Given the description of an element on the screen output the (x, y) to click on. 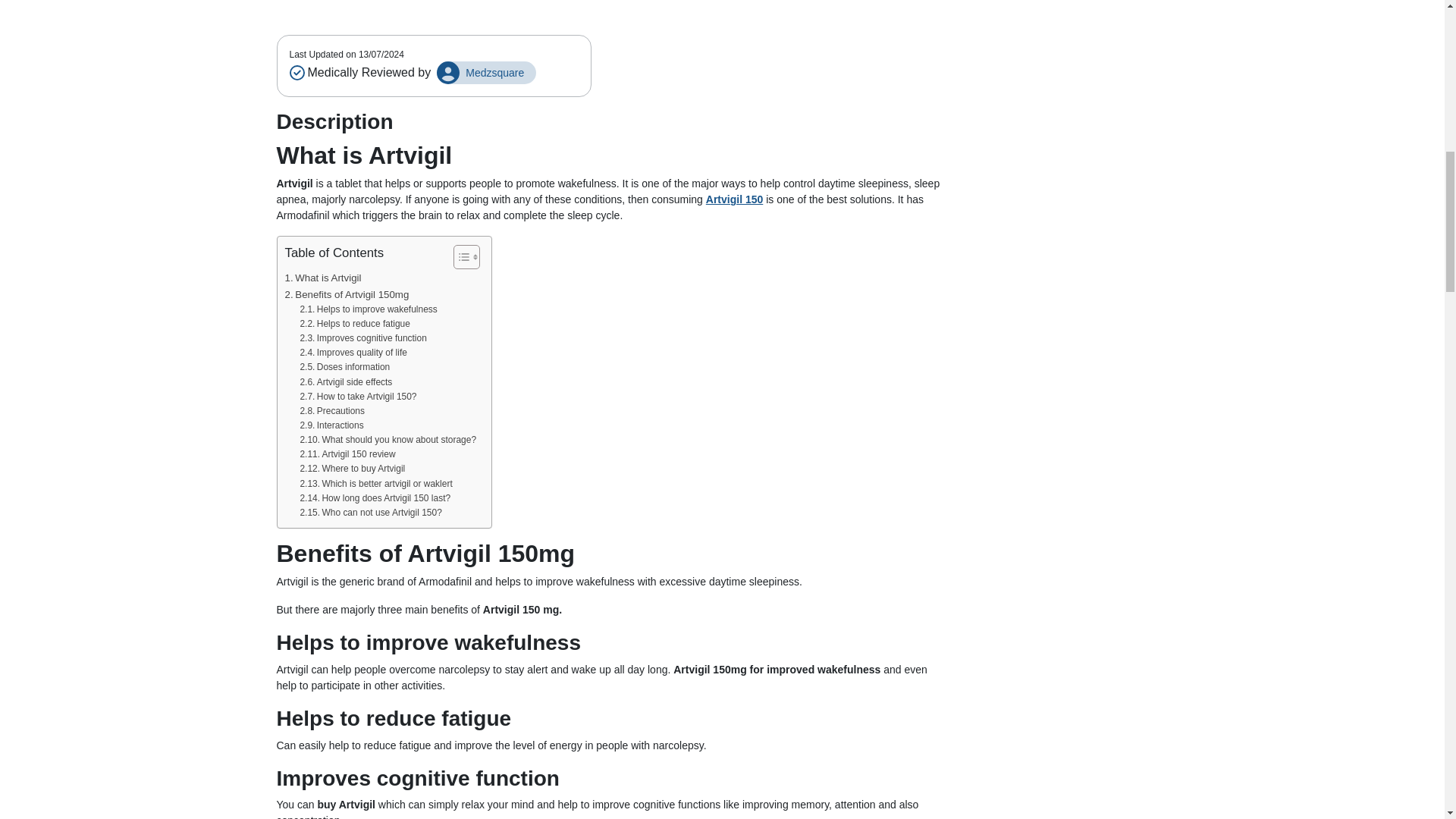
Improves cognitive function (362, 333)
Benefits of Artvigil 150mg (347, 289)
How to take Artvigil 150? (357, 391)
Helps to reduce fatigue (354, 319)
Improves quality of life (352, 348)
Doses information (344, 362)
Interactions (330, 421)
Precautions (332, 406)
What is Artvigil (323, 273)
Helps to improve wakefulness (367, 305)
What should you know about storage? (387, 435)
Artvigil side effects (345, 377)
